Given the description of an element on the screen output the (x, y) to click on. 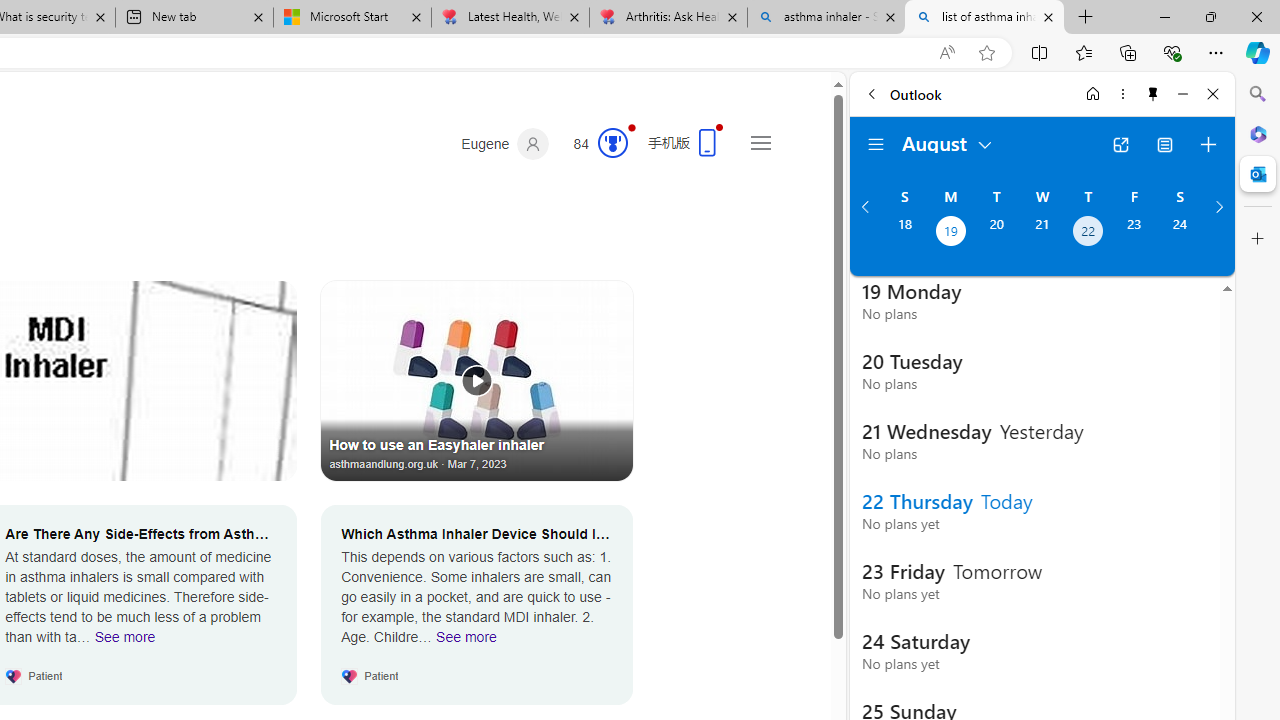
AutomationID: rh_meter (612, 142)
Tuesday, August 20, 2024.  (996, 233)
Animation (632, 127)
Friday, August 23, 2024.  (1134, 233)
Monday, August 19, 2024. Date selected.  (950, 233)
Arthritis: Ask Health Professionals (668, 17)
